Given the description of an element on the screen output the (x, y) to click on. 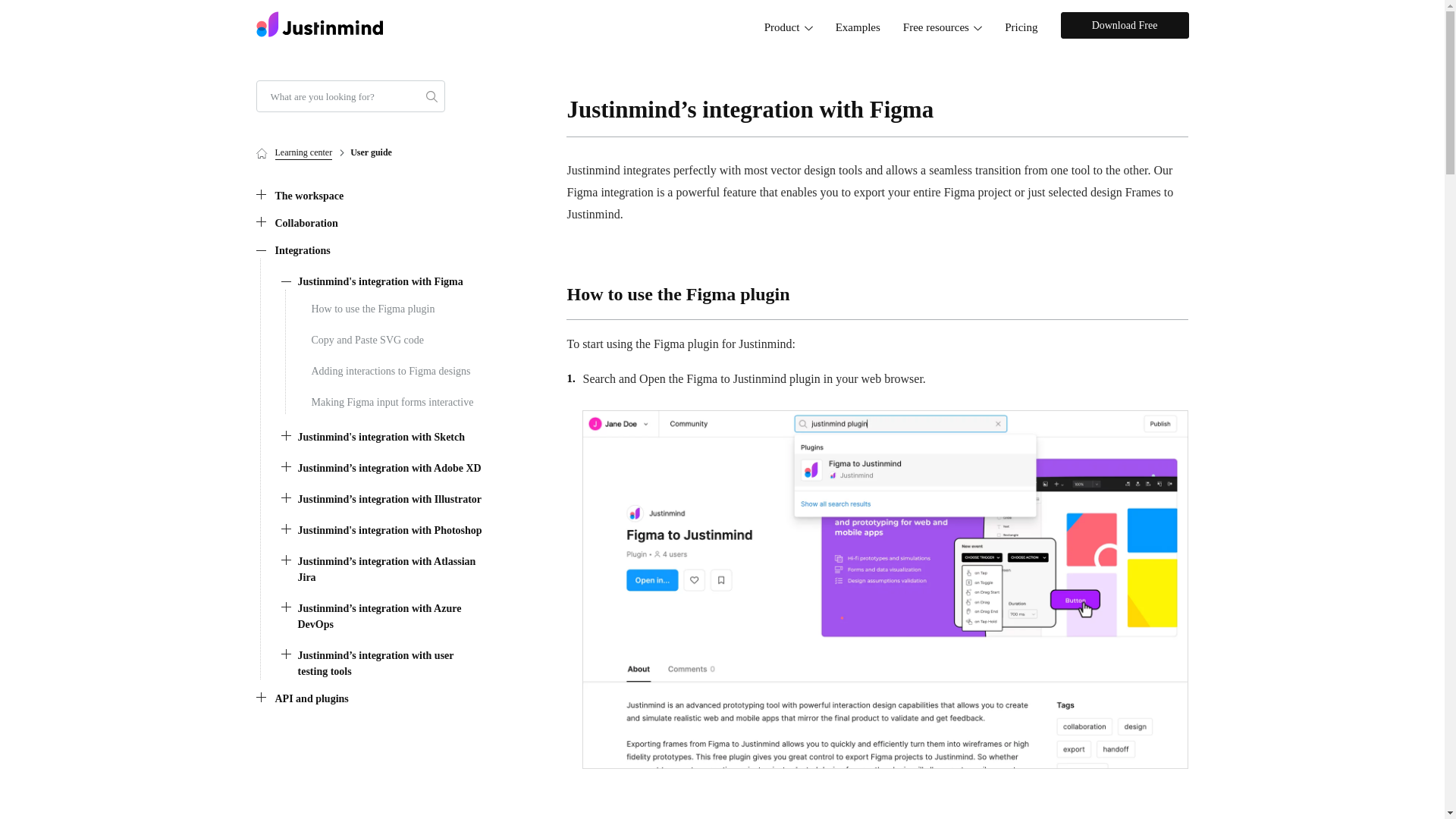
Pricing (1020, 27)
Collaboration (296, 222)
Examples (857, 27)
Learning center (294, 152)
Download Free (1123, 25)
The workspace (299, 195)
